Given the description of an element on the screen output the (x, y) to click on. 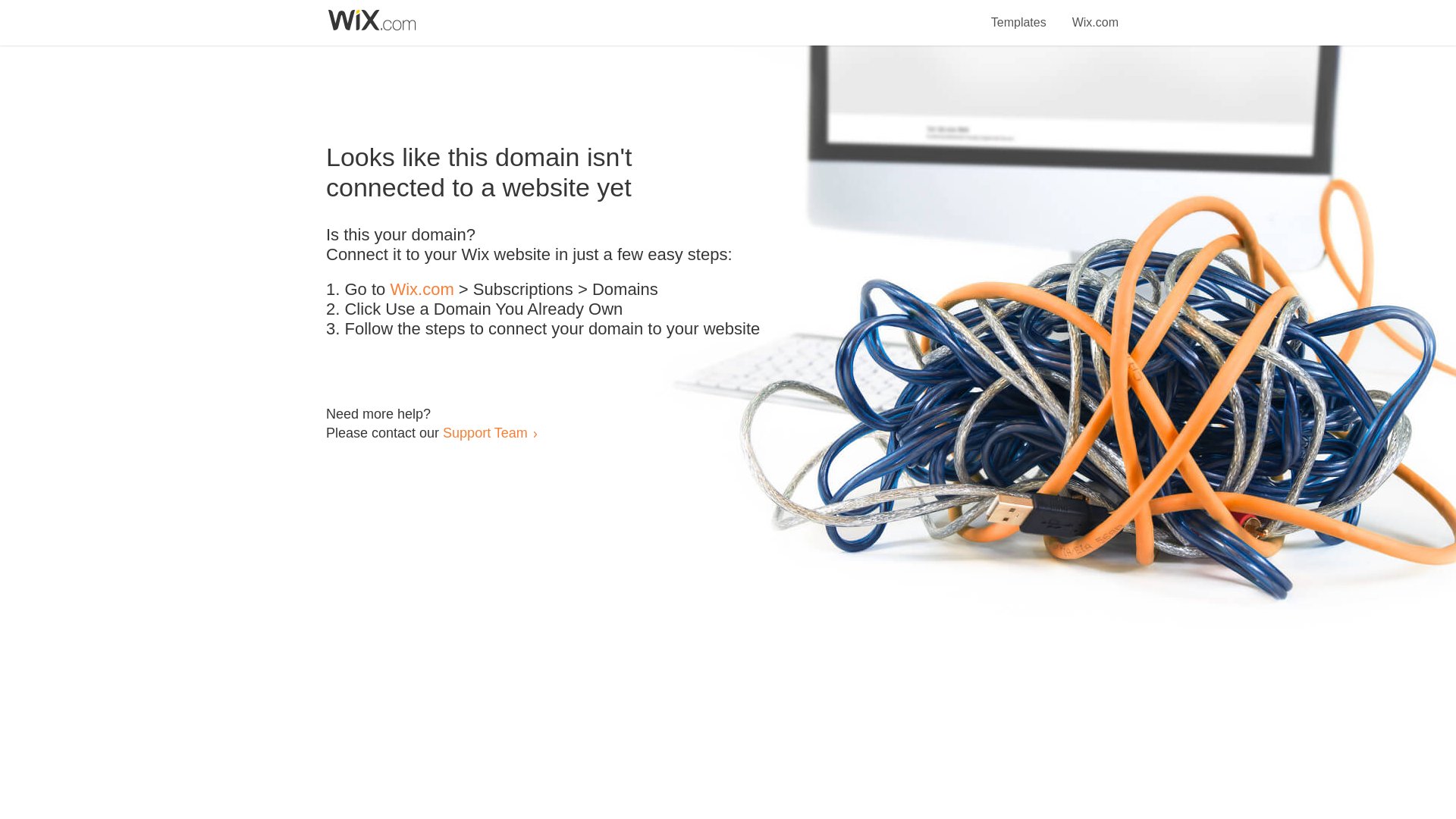
Support Team (484, 432)
Templates (1018, 14)
Wix.com (421, 289)
Wix.com (1095, 14)
